Given the description of an element on the screen output the (x, y) to click on. 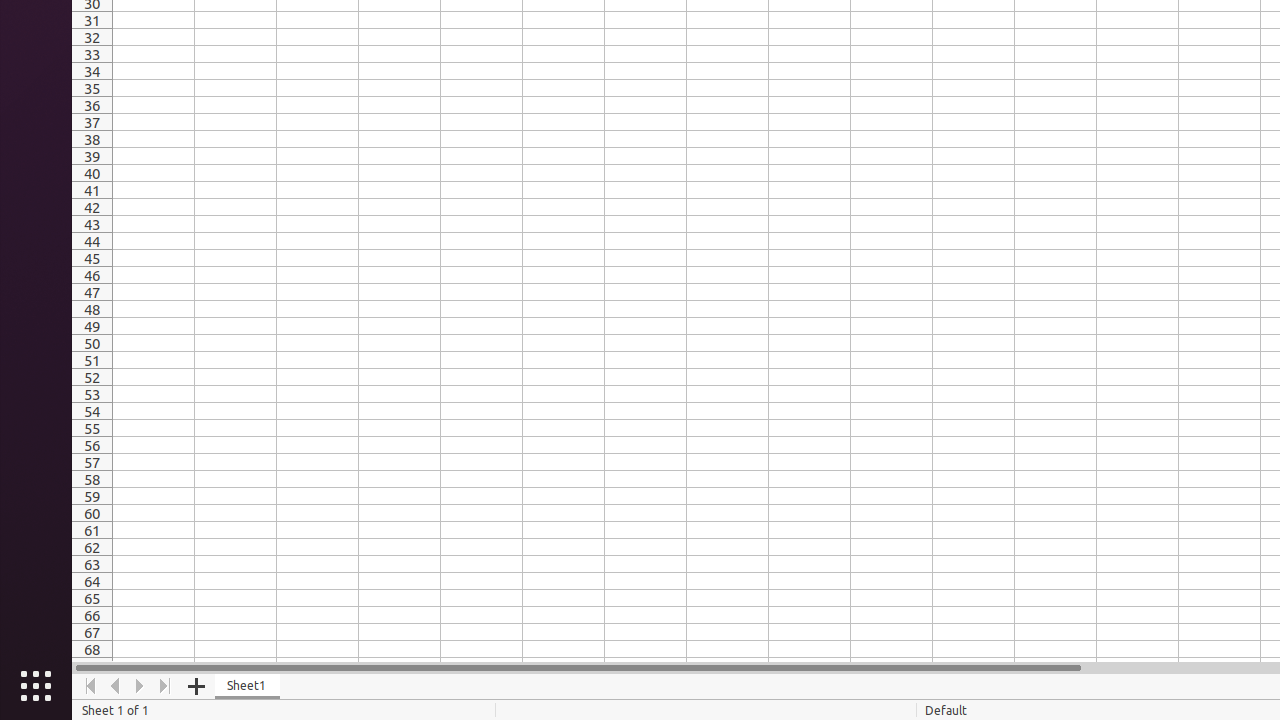
Show Applications Element type: toggle-button (36, 686)
